Given the description of an element on the screen output the (x, y) to click on. 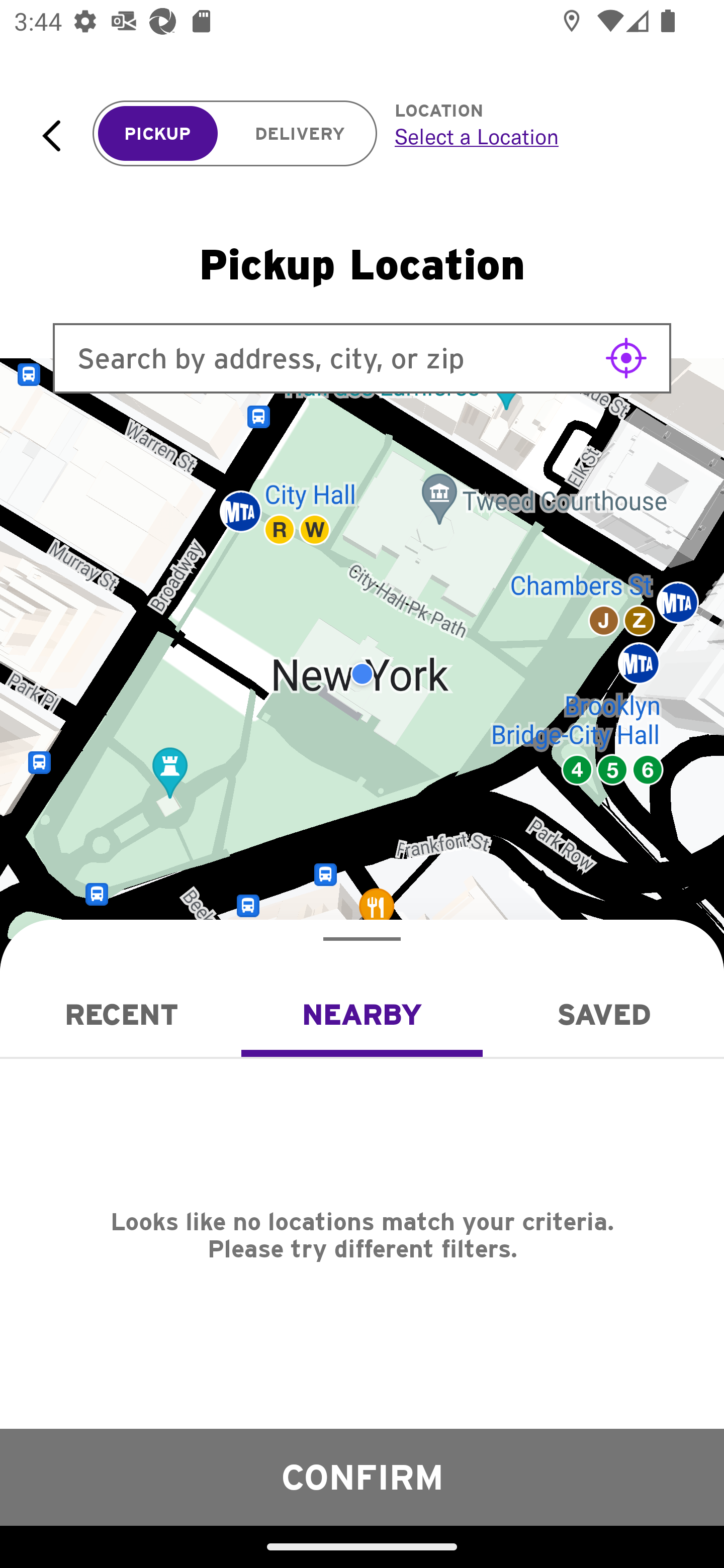
PICKUP (157, 133)
DELIVERY (299, 133)
Select a Location (536, 136)
Search by address, city, or zip (361, 358)
Google Map (362, 674)
Recent RECENT (120, 1014)
Saved SAVED (603, 1014)
CONFIRM (362, 1476)
